Given the description of an element on the screen output the (x, y) to click on. 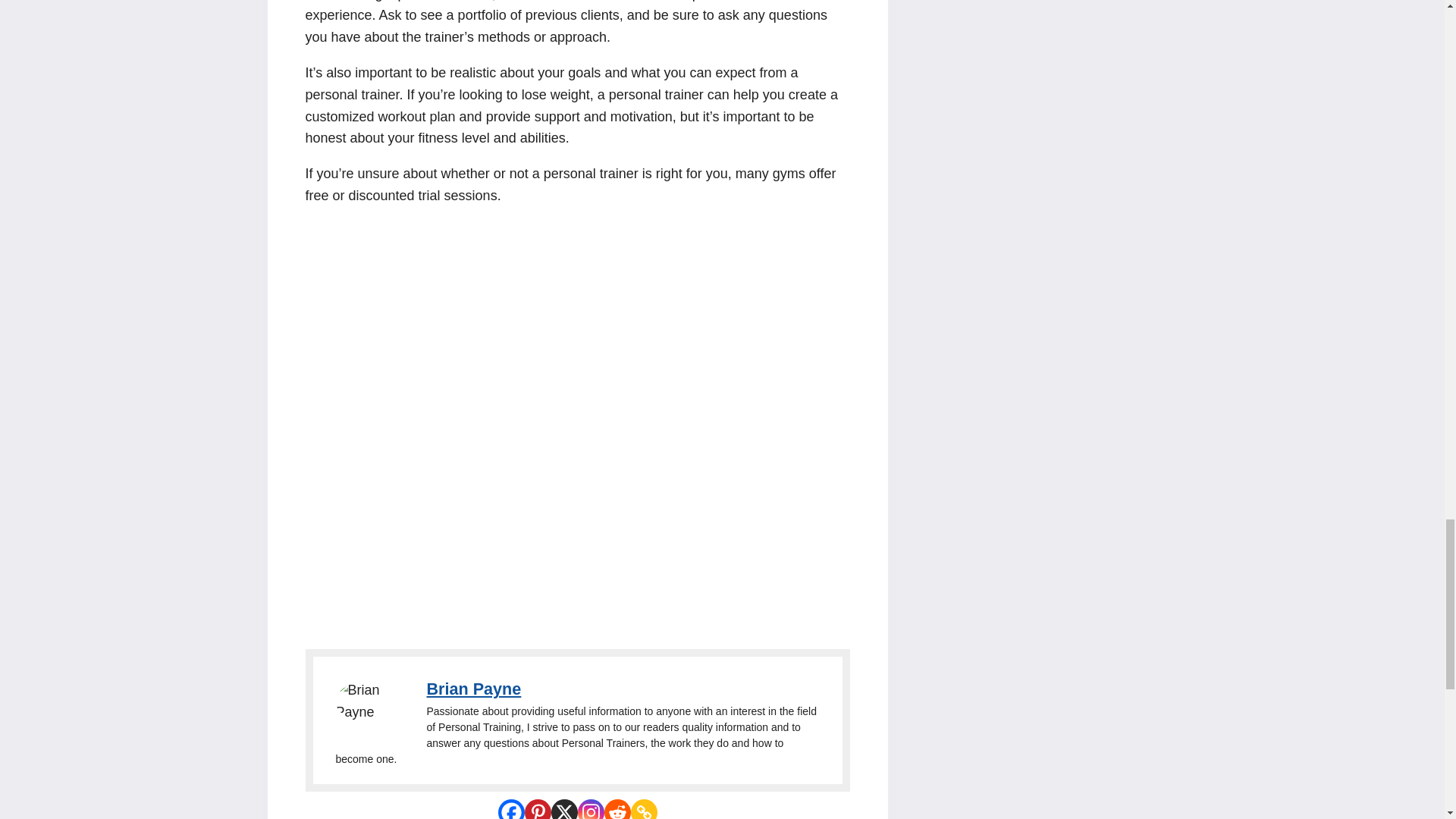
X (563, 809)
Facebook (510, 809)
Pinterest (537, 809)
How Much Is A Personal Trainer At 24 Hour 2 (372, 701)
Reddit (617, 809)
Copy Link (644, 809)
Instagram (591, 809)
